Given the description of an element on the screen output the (x, y) to click on. 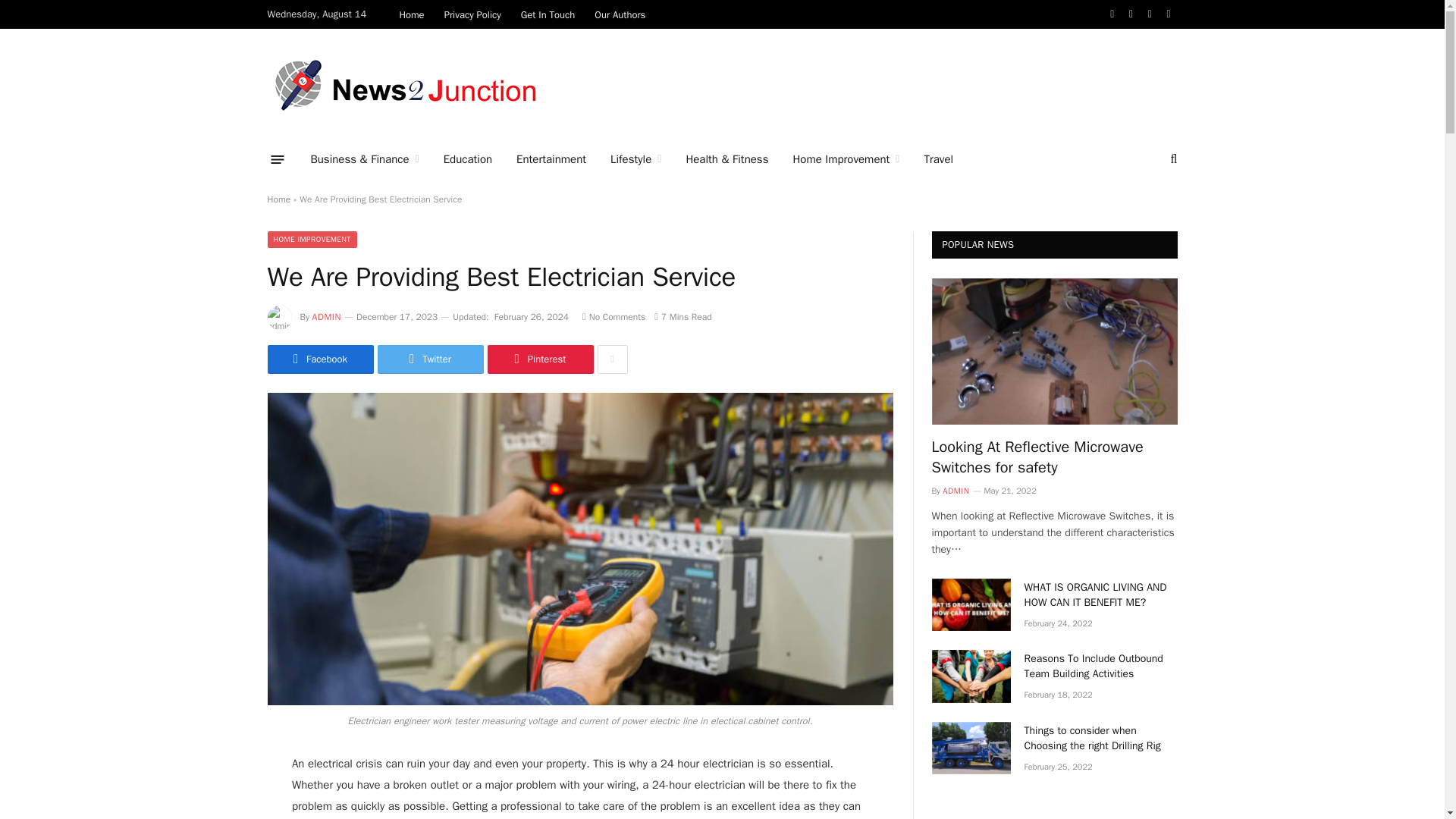
Home (410, 14)
Entertainment (550, 159)
News 2 Junction (407, 83)
Advertisement (901, 84)
Our Authors (620, 14)
Privacy Policy (472, 14)
Home Improvement (845, 159)
Lifestyle (635, 159)
Get In Touch (548, 14)
Education (466, 159)
